Given the description of an element on the screen output the (x, y) to click on. 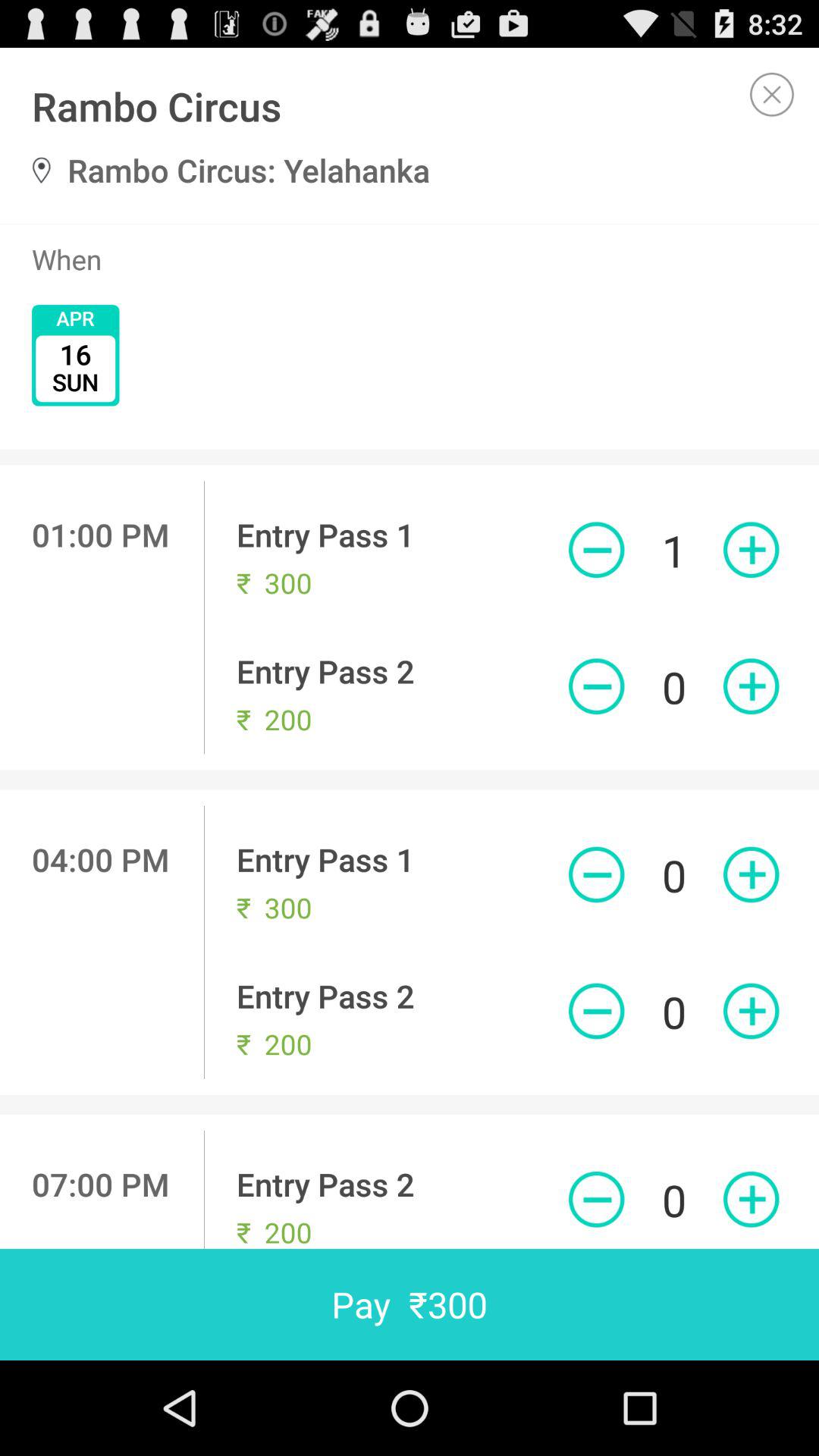
exit selected screening (772, 94)
